Given the description of an element on the screen output the (x, y) to click on. 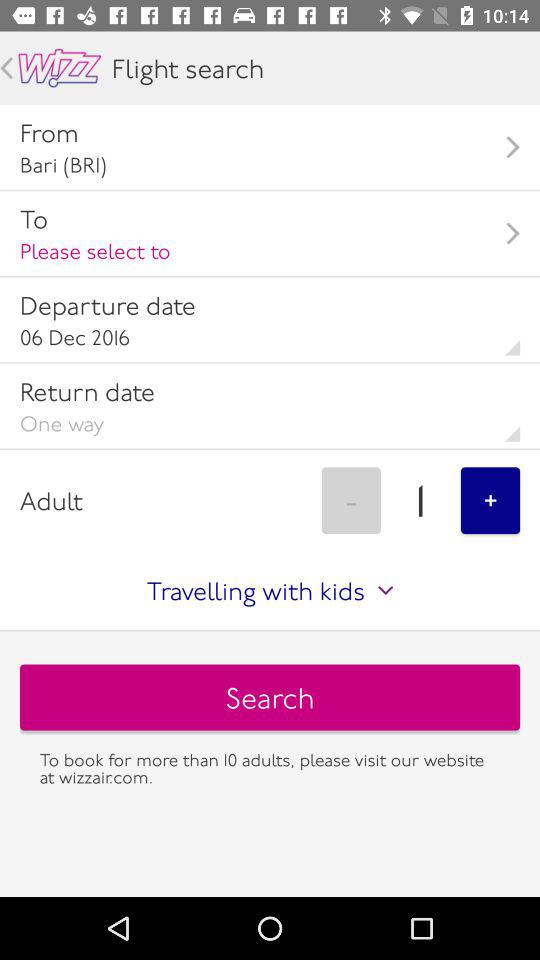
go to homepage (59, 68)
